Given the description of an element on the screen output the (x, y) to click on. 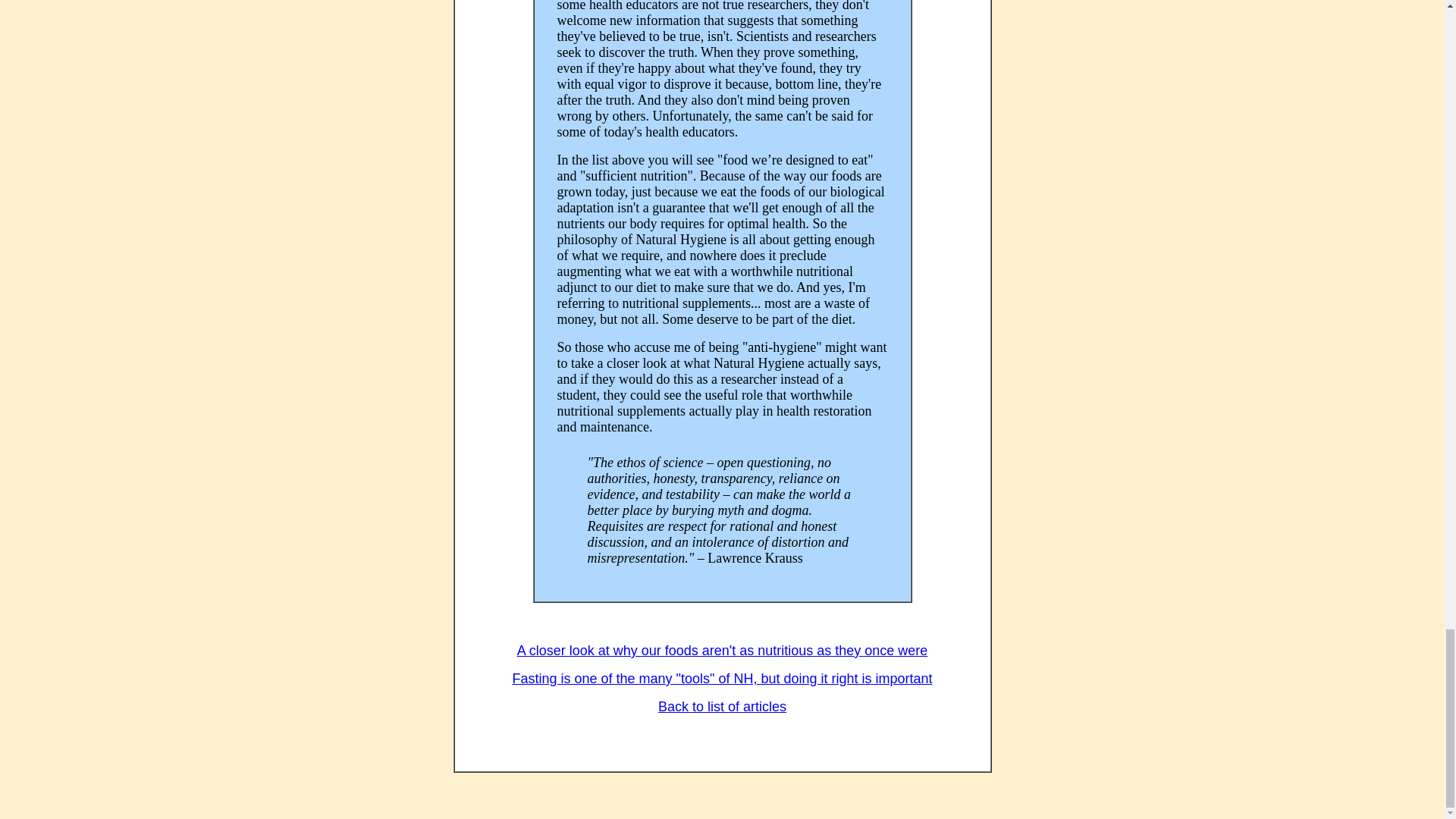
Back to list of articles (722, 706)
